Given the description of an element on the screen output the (x, y) to click on. 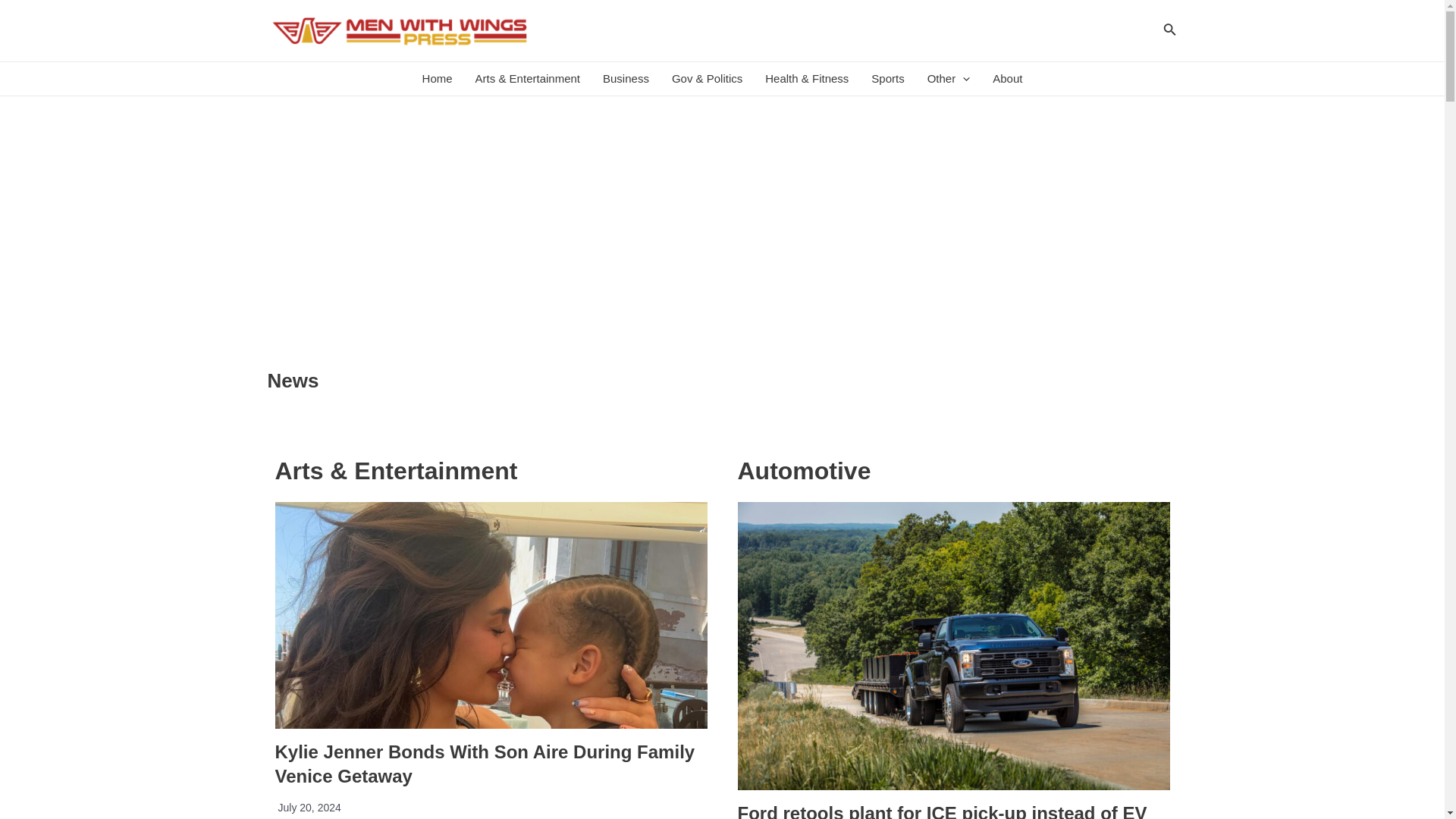
Sports (887, 78)
About (1007, 78)
Business (626, 78)
Other (948, 78)
Home (437, 78)
